Given the description of an element on the screen output the (x, y) to click on. 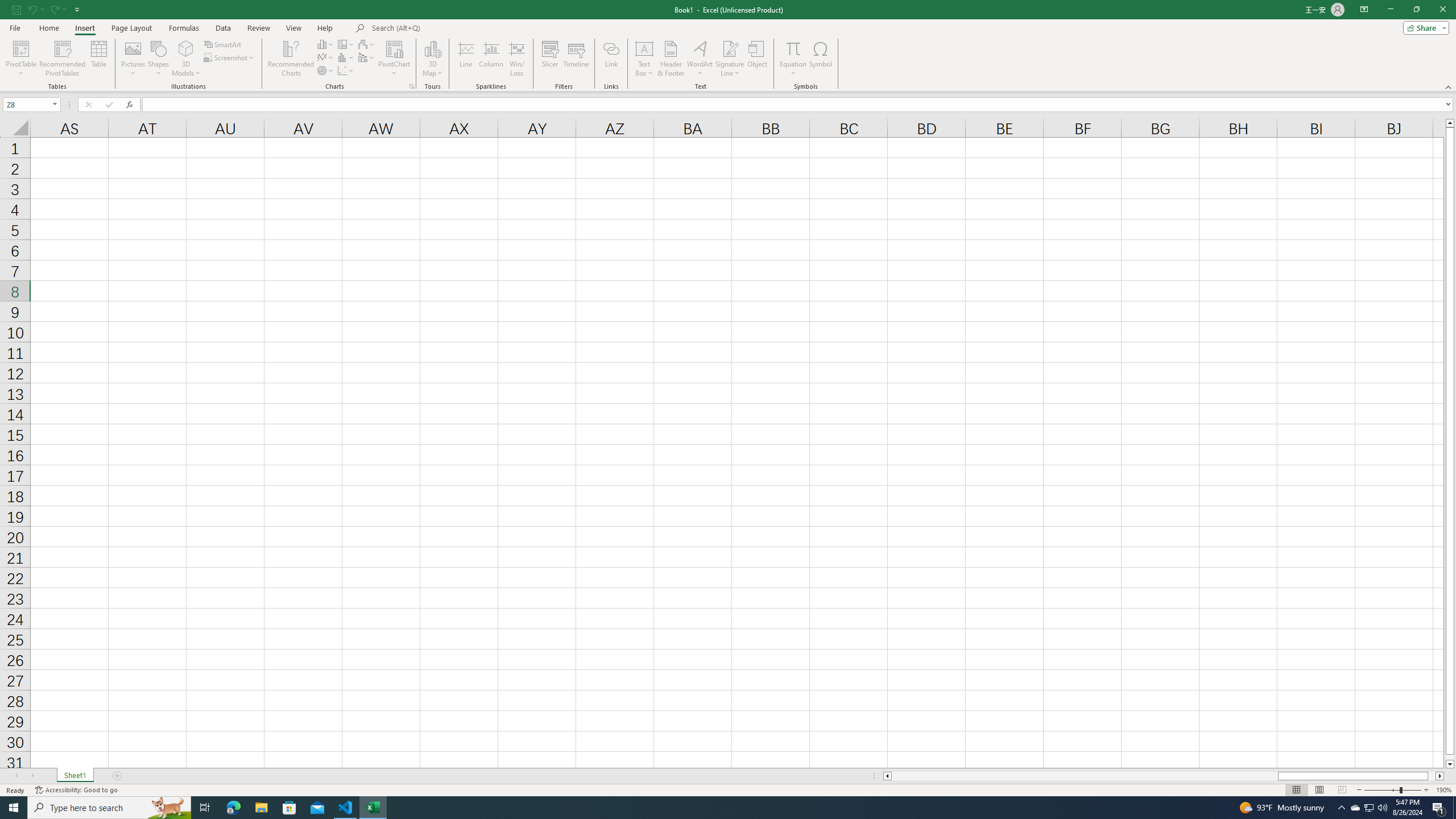
Recommended Charts (411, 85)
Restore Down (1416, 9)
Column (491, 58)
Insert Hierarchy Chart (346, 44)
PivotChart (394, 58)
